Given the description of an element on the screen output the (x, y) to click on. 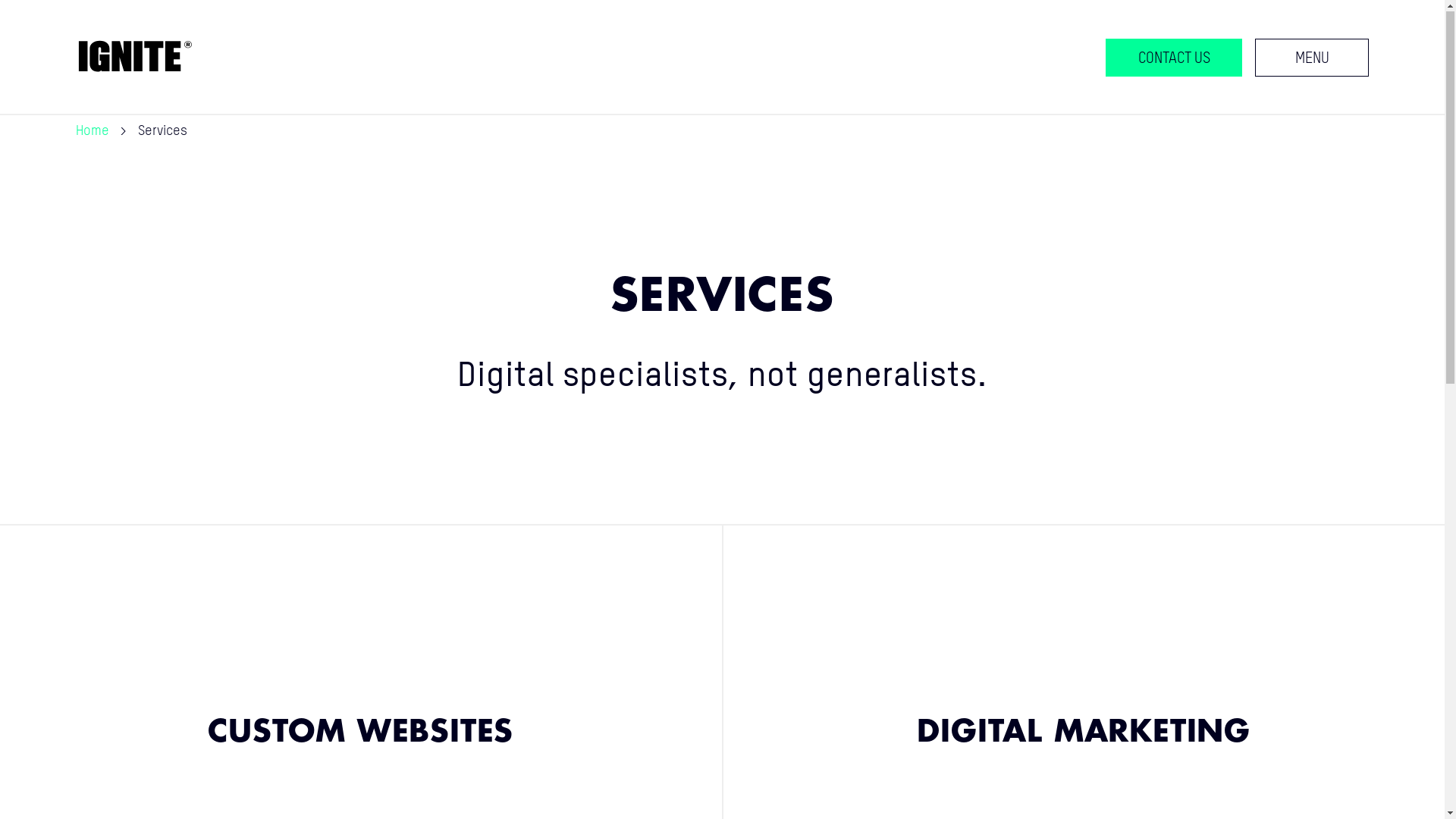
MENU Element type: text (1311, 58)
CONTACT US Element type: text (1173, 58)
Home Element type: text (92, 131)
WEB DESIGN MELBOURNE Element type: text (190, 761)
WEB DESIGN SYDNEY Element type: text (411, 761)
